Given the description of an element on the screen output the (x, y) to click on. 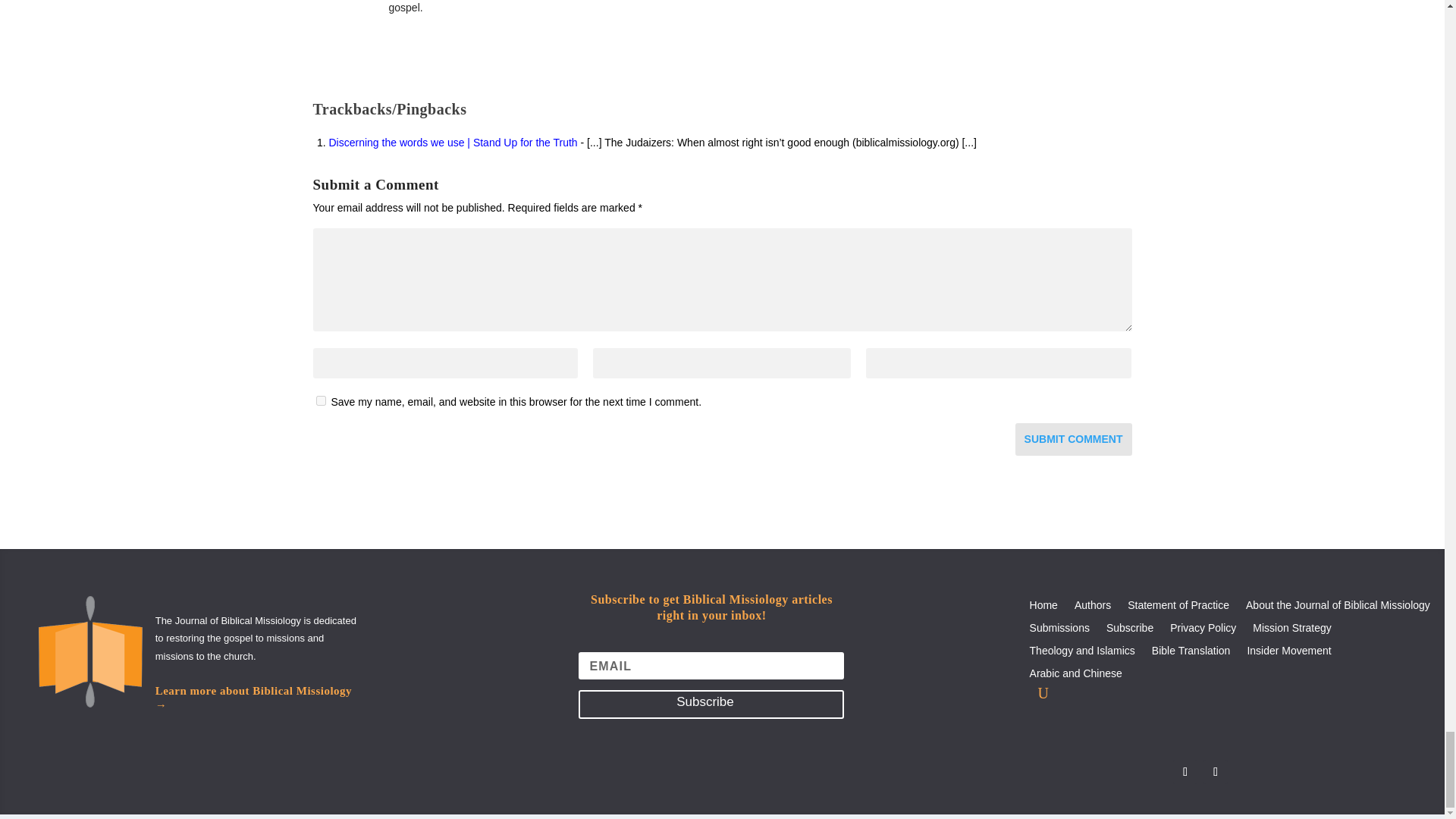
Follow on Youtube (1215, 771)
yes (319, 400)
Follow on Facebook (1184, 771)
